Given the description of an element on the screen output the (x, y) to click on. 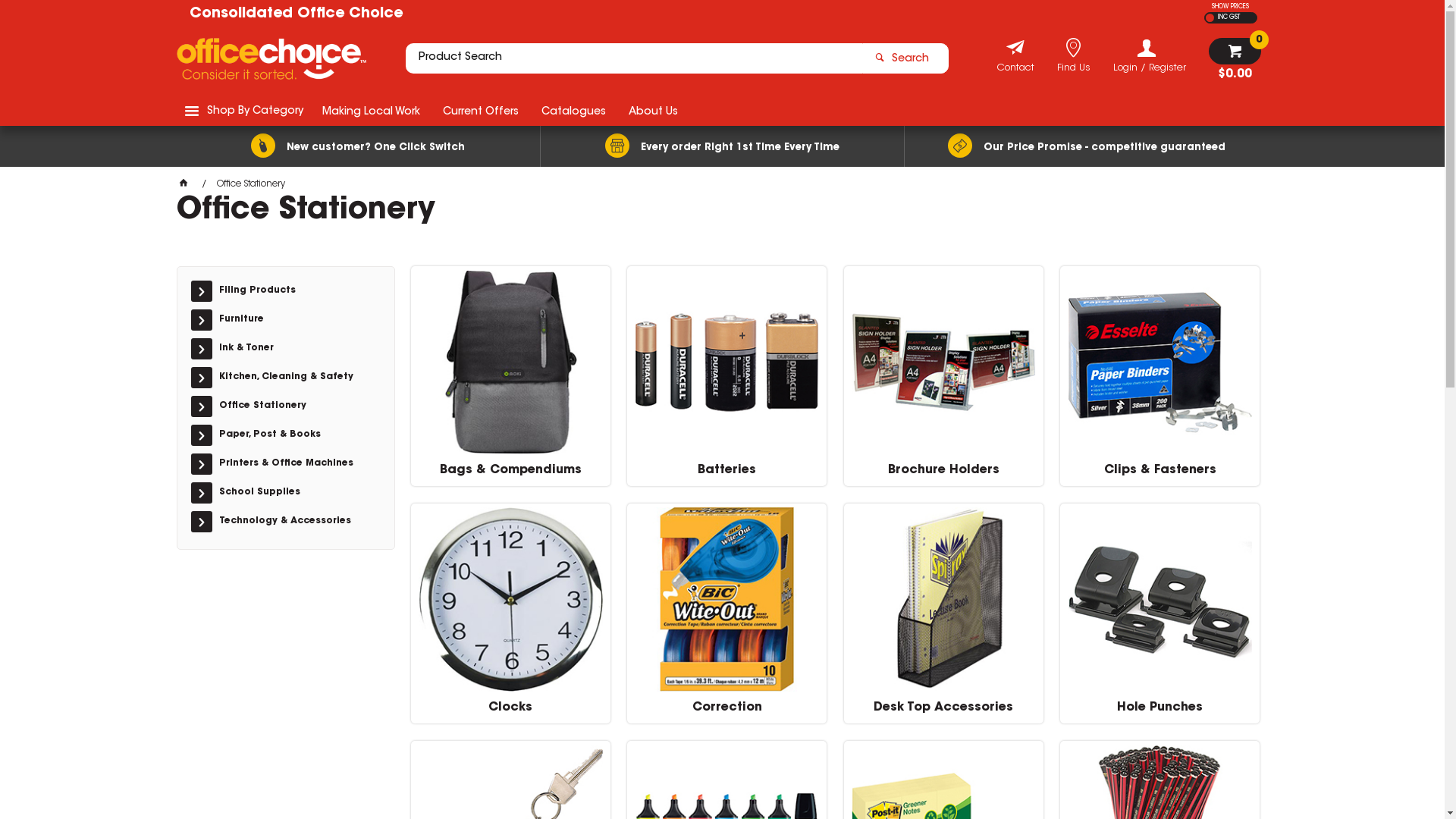
Brochure Holders Element type: text (943, 474)
Ink & Toner Element type: text (293, 348)
Current Offers Element type: text (479, 110)
Desk Top Accessories Element type: text (943, 711)
Technology & Accessories Element type: text (293, 521)
Correction Element type: hover (726, 599)
Making Local Work Element type: text (370, 110)
Clips & Fasteners Element type: hover (1159, 361)
Paper, Post & Books Element type: text (293, 435)
Catalogues Element type: text (572, 110)
Clocks Element type: hover (510, 599)
INC GST Element type: text (1226, 17)
Clips & Fasteners Element type: text (1159, 474)
Brochure Holders Element type: hover (943, 361)
Batteries Element type: hover (726, 361)
Printers & Office Machines Element type: text (293, 464)
Contact Element type: text (1014, 69)
Correction Element type: text (726, 711)
Office Stationery Element type: text (293, 406)
EX GST Element type: text (1209, 17)
Desk Top Accessories Element type: hover (943, 599)
Every order Right 1st Time Every Time Element type: text (721, 145)
Bags & Compendiums Element type: hover (510, 361)
Hole Punches Element type: text (1159, 711)
New customer? One Click Switch Element type: text (357, 145)
Furniture Element type: text (293, 319)
Filing Products Element type: text (293, 291)
School Supplies Element type: text (293, 492)
Hole Punches Element type: hover (1159, 599)
Batteries Element type: text (726, 474)
Clocks Element type: text (510, 711)
About Us Element type: text (653, 110)
Find Us Element type: text (1073, 69)
Our Price Promise - competitive guaranteed Element type: text (1085, 145)
$0.00
0 Element type: text (1234, 59)
Search Element type: text (904, 58)
Kitchen, Cleaning & Safety Element type: text (293, 377)
Login / Register Element type: text (1149, 55)
Bags & Compendiums Element type: text (510, 474)
